Given the description of an element on the screen output the (x, y) to click on. 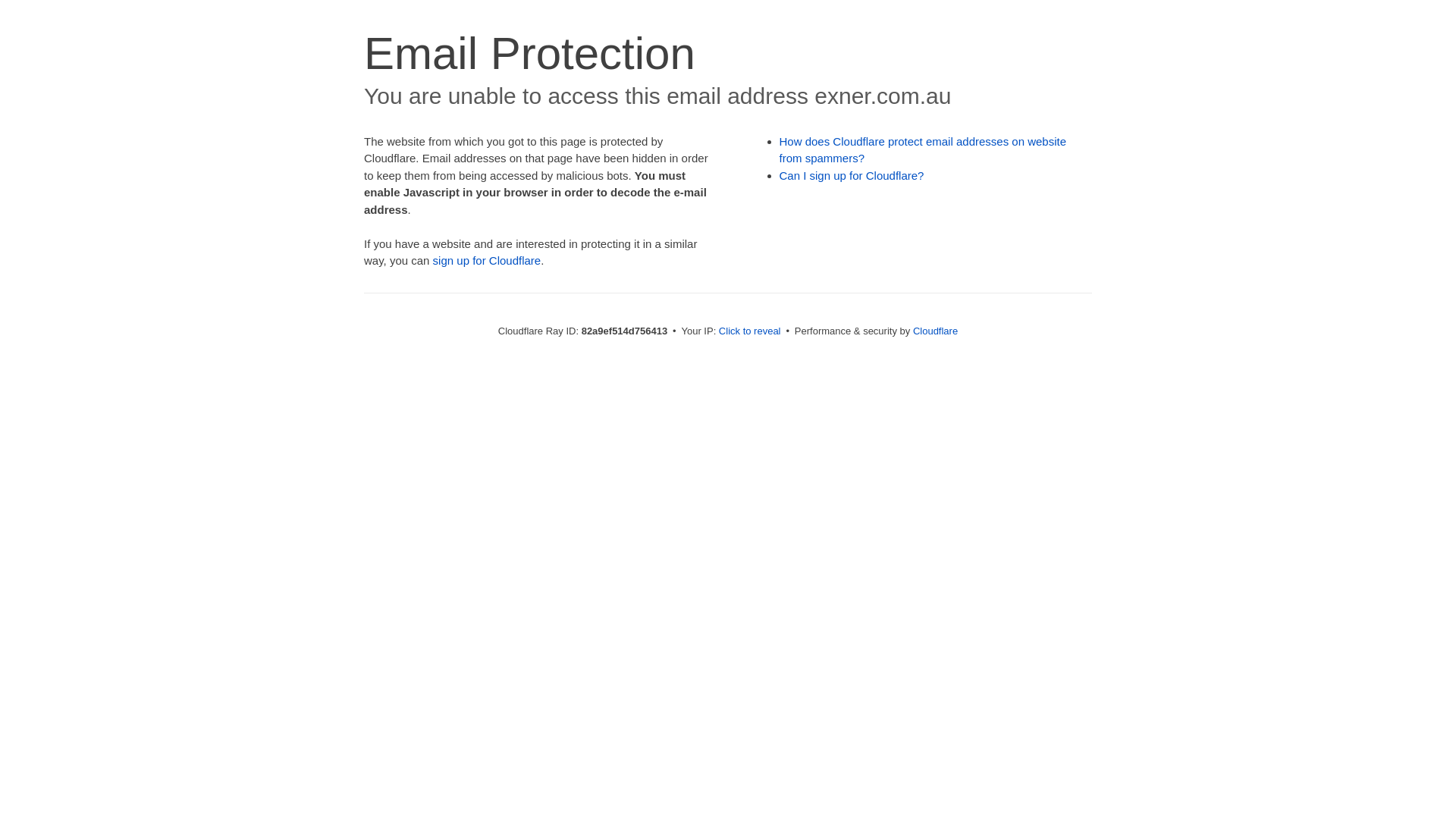
sign up for Cloudflare Element type: text (487, 260)
Click to reveal Element type: text (749, 330)
Can I sign up for Cloudflare? Element type: text (851, 175)
Cloudflare Element type: text (935, 330)
